Given the description of an element on the screen output the (x, y) to click on. 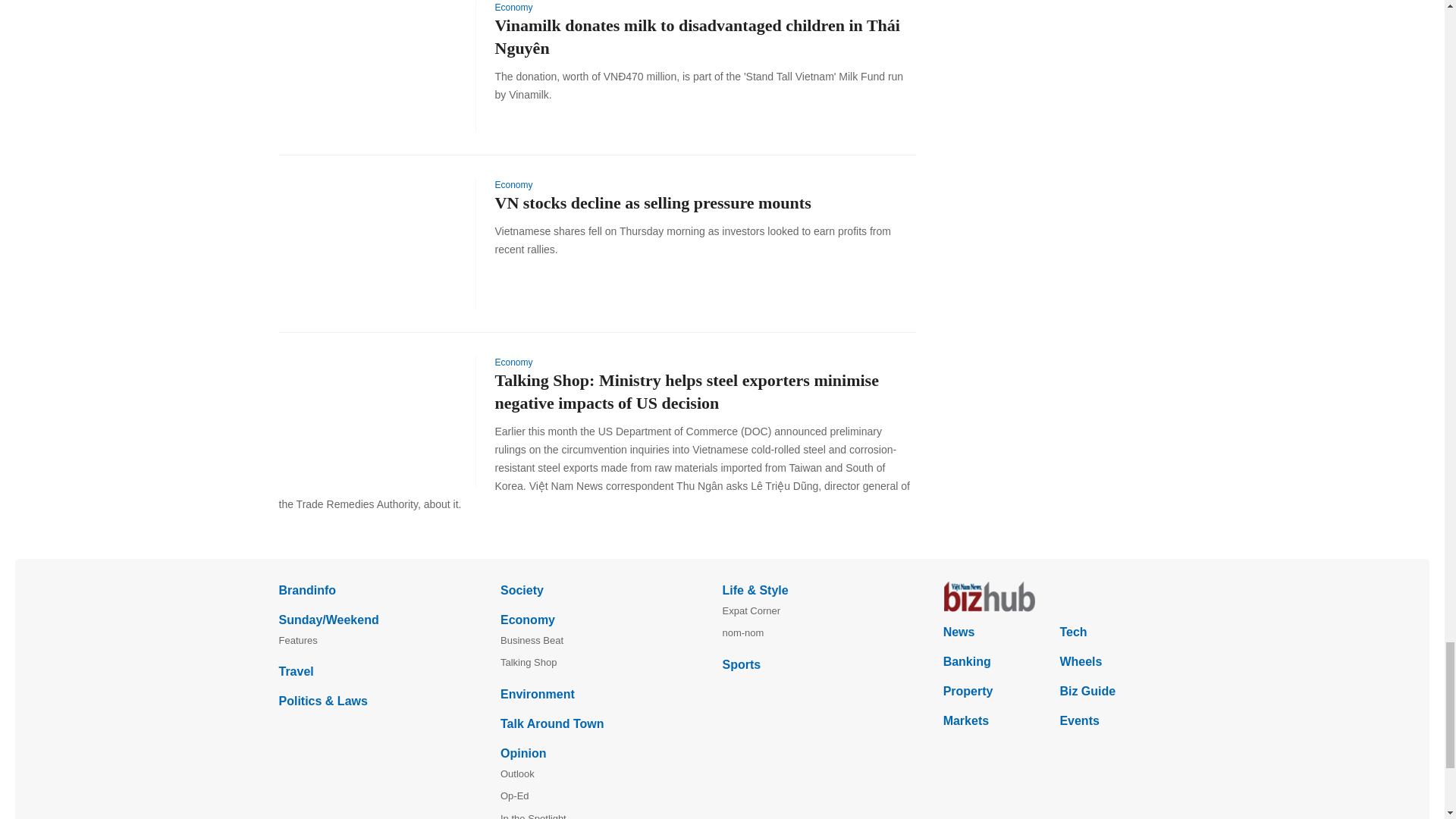
bizhub (1054, 596)
